Given the description of an element on the screen output the (x, y) to click on. 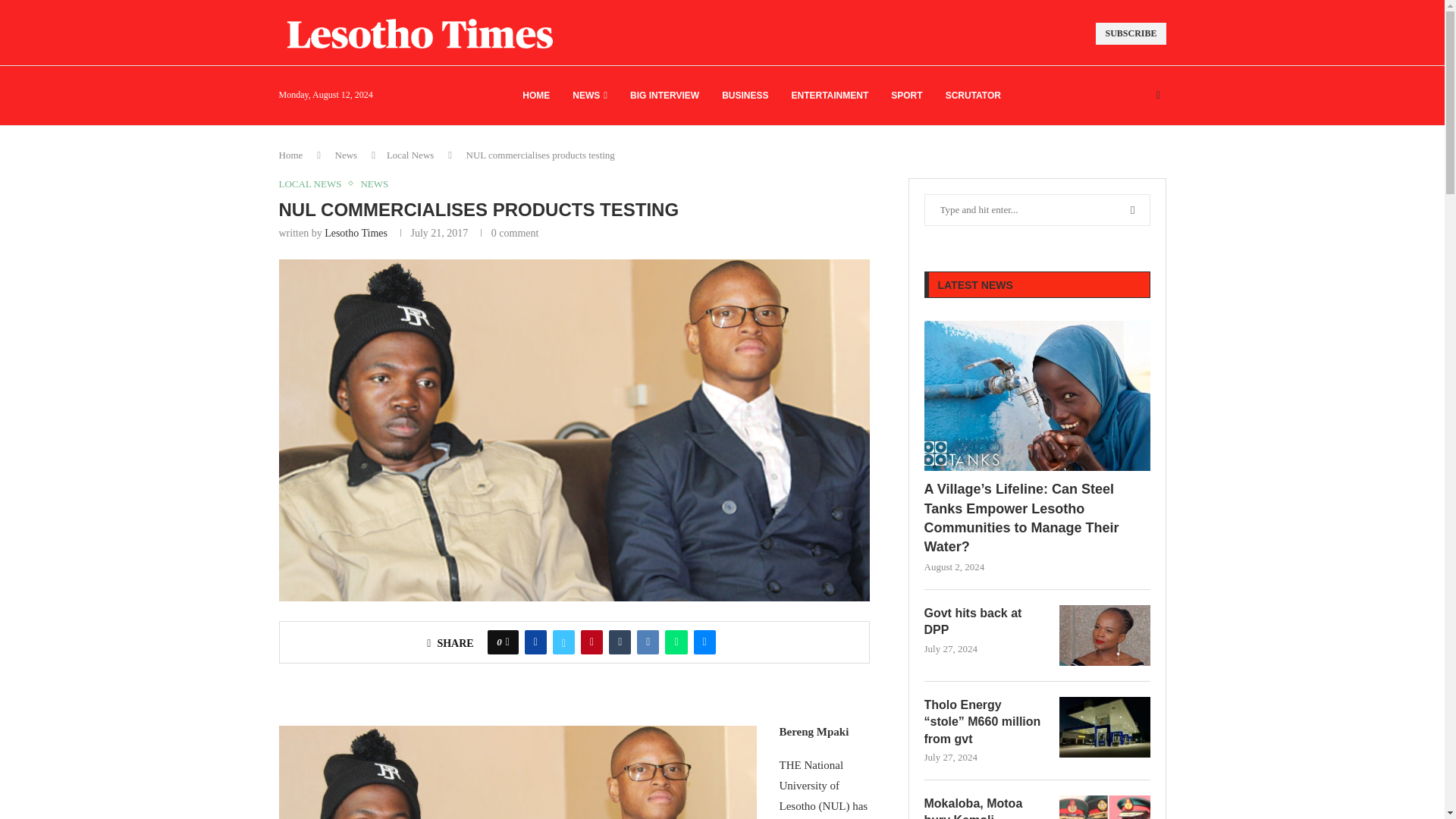
SUBSCRIBE (1131, 33)
BIG INTERVIEW (664, 95)
SCRUTATOR (972, 95)
ENTERTAINMENT (830, 95)
BUSINESS (745, 95)
